Given the description of an element on the screen output the (x, y) to click on. 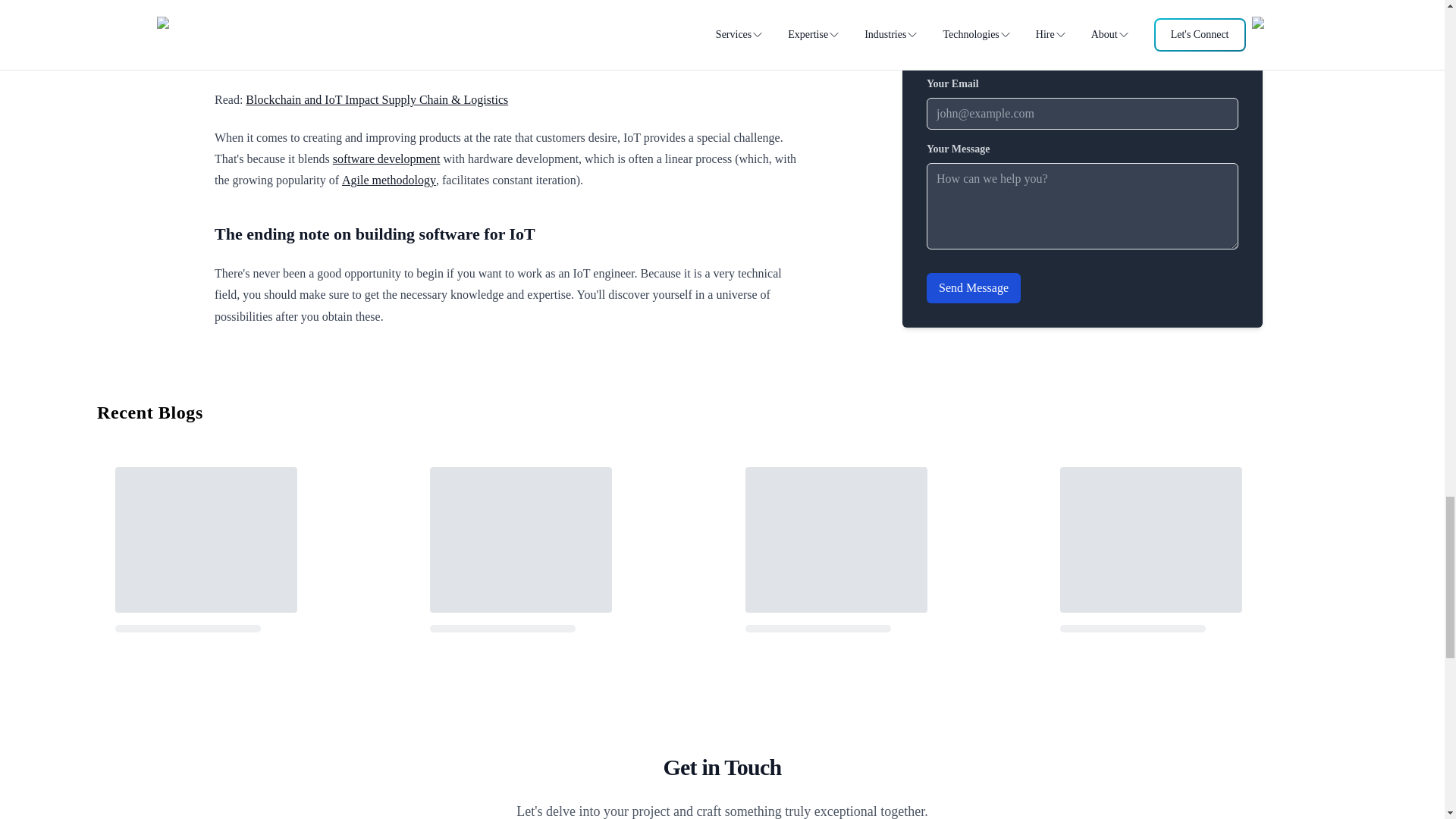
development process (694, 40)
software development (387, 158)
Agile methodology (388, 179)
